Given the description of an element on the screen output the (x, y) to click on. 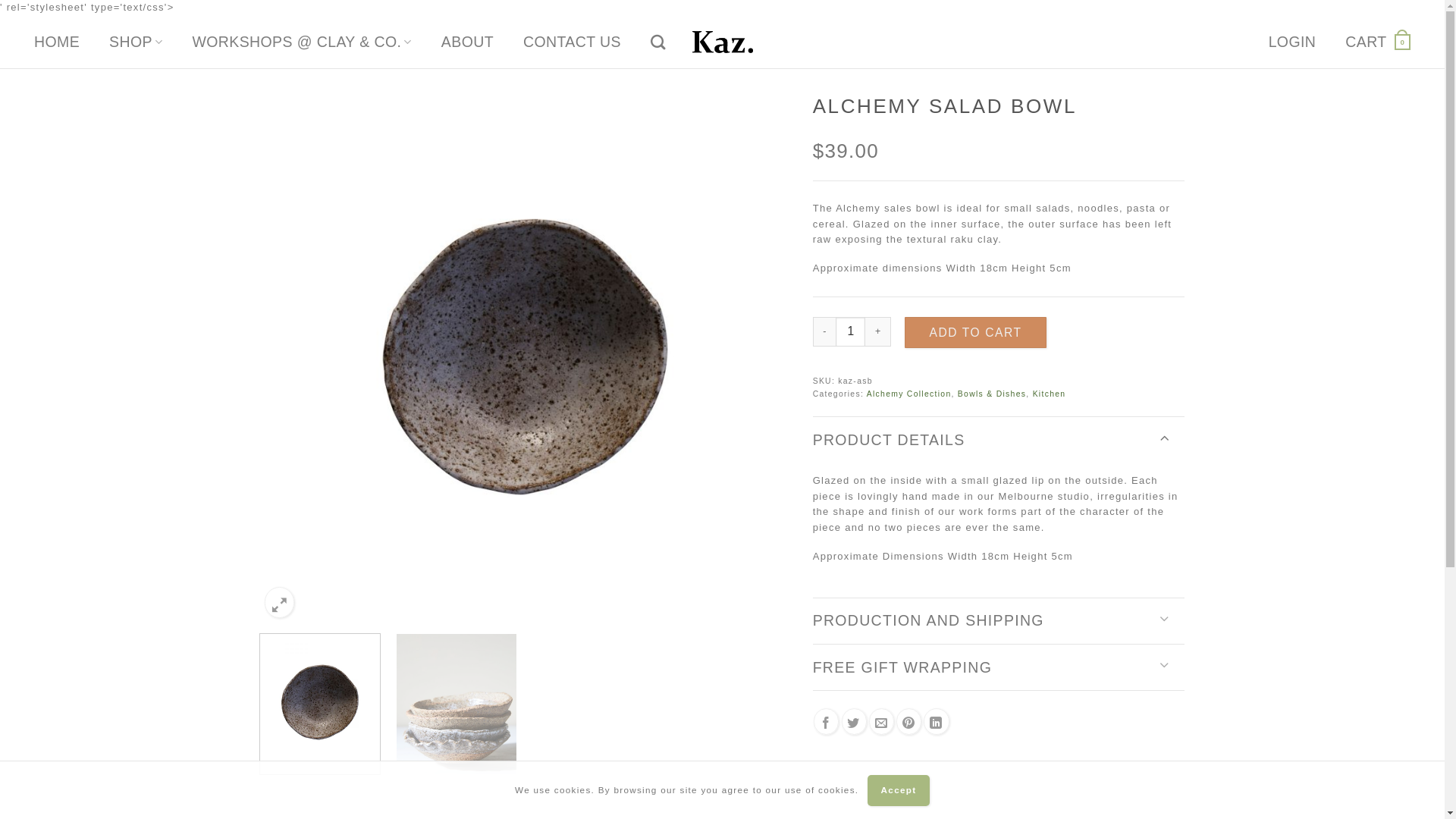
CART
0 Element type: text (1377, 41)
kaz-add Element type: hover (524, 356)
FREE GIFT WRAPPING Element type: text (998, 666)
HOME Element type: text (56, 41)
ADD TO CART Element type: text (974, 332)
Kitchen Element type: text (1049, 393)
PRODUCT DETAILS Element type: text (998, 439)
Alchemy Collection Element type: text (908, 393)
Zoom Element type: hover (279, 602)
LOGIN Element type: text (1292, 41)
Share on Facebook Element type: hover (825, 721)
Share on Twitter Element type: hover (853, 721)
Bowls & Dishes Element type: text (991, 393)
PRODUCTION AND SHIPPING Element type: text (998, 620)
Email to a Friend Element type: hover (881, 721)
Share on LinkedIn Element type: hover (935, 721)
ABOUT Element type: text (467, 41)
WORKSHOPS @ CLAY & CO. Element type: text (301, 41)
CONTACT US Element type: text (572, 41)
SHOP Element type: text (135, 41)
Pin on Pinterest Element type: hover (908, 721)
